Given the description of an element on the screen output the (x, y) to click on. 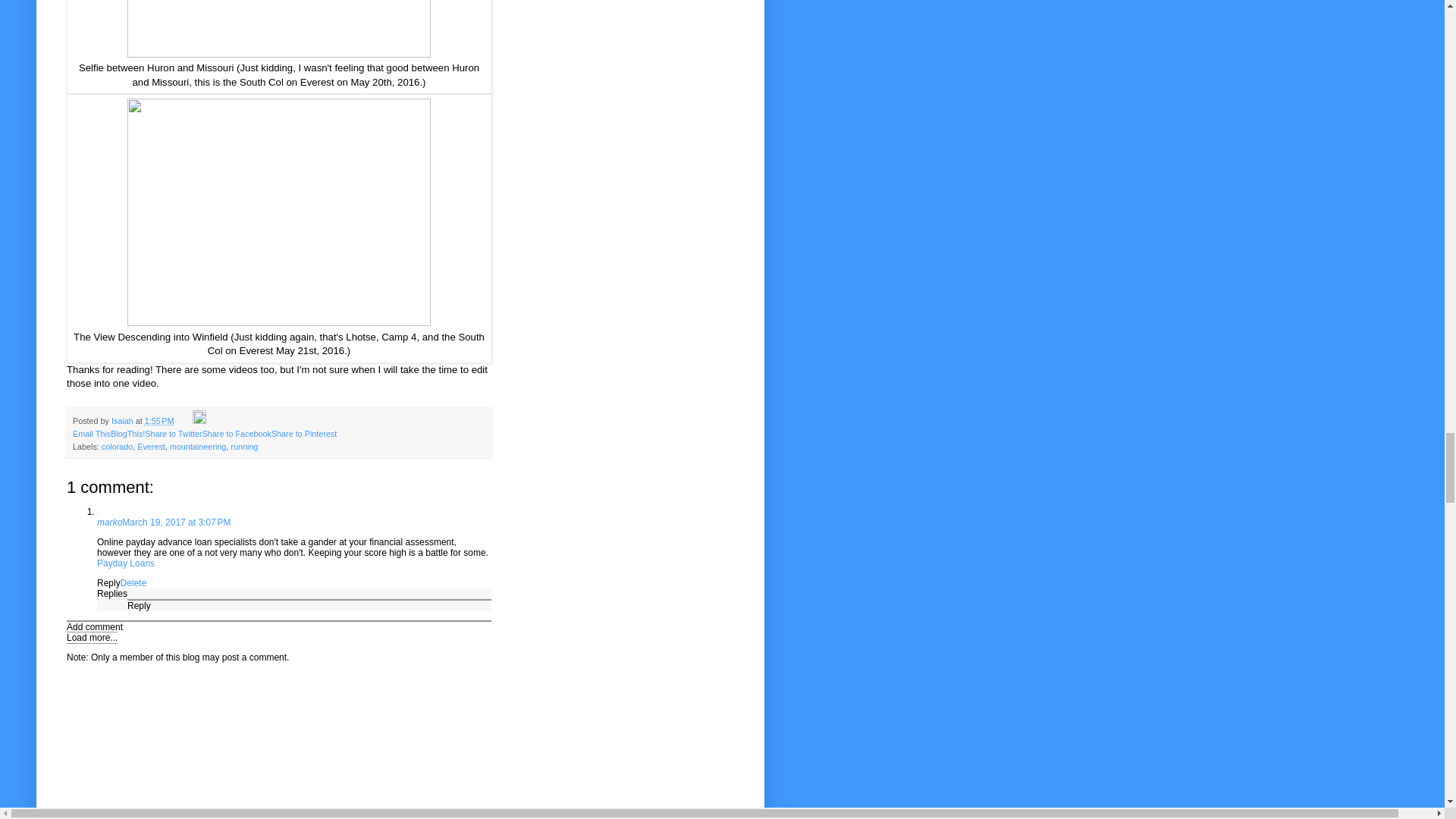
Share to Twitter (173, 433)
Add comment (94, 626)
Share to Pinterest (303, 433)
marko (109, 521)
Share to Facebook (236, 433)
Reply (139, 605)
Delete (133, 583)
BlogThis! (127, 433)
Load more... (91, 637)
Email Post (184, 420)
Email This (91, 433)
Share to Twitter (173, 433)
Reply (108, 583)
